Given the description of an element on the screen output the (x, y) to click on. 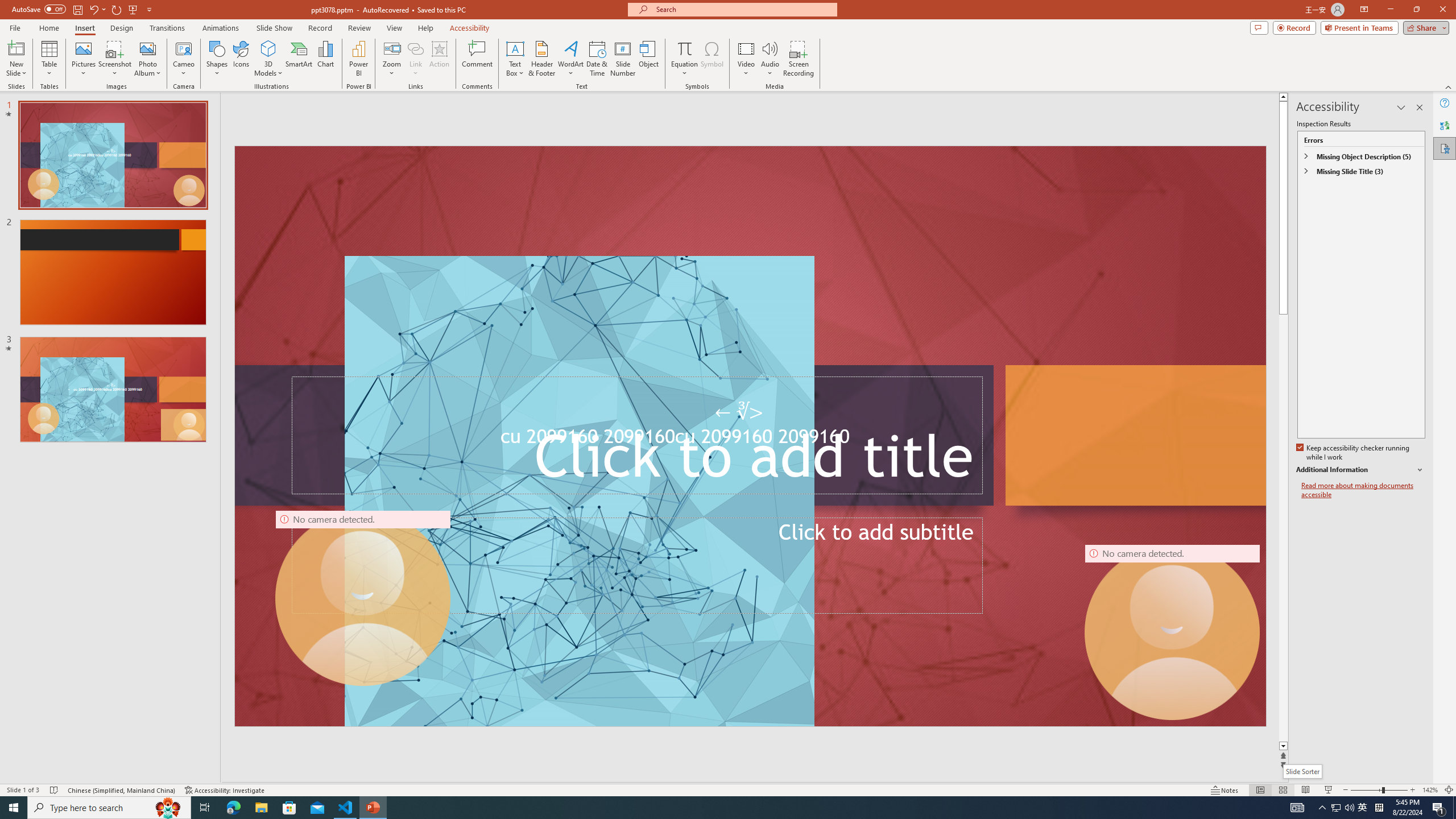
Close pane (1419, 107)
WordArt (570, 58)
Zoom 142% (1430, 790)
Zoom (391, 58)
Review (359, 28)
Zoom In (1412, 790)
Text Box (515, 58)
TextBox 61 (749, 438)
Read more about making documents accessible (1363, 489)
From Beginning (133, 9)
Class: MsoCommandBar (728, 789)
Normal (1260, 790)
Link (415, 58)
Redo (117, 9)
